Given the description of an element on the screen output the (x, y) to click on. 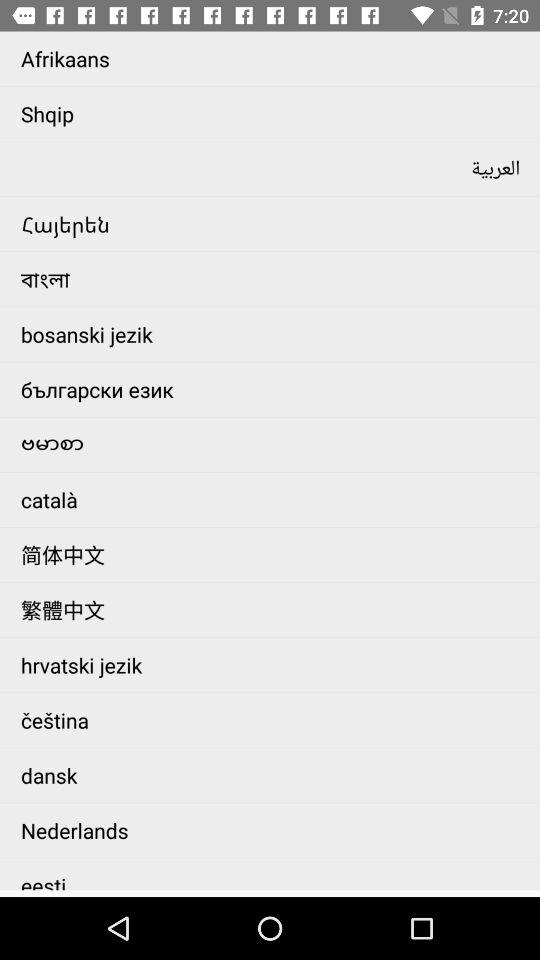
click afrikaans app (275, 58)
